Given the description of an element on the screen output the (x, y) to click on. 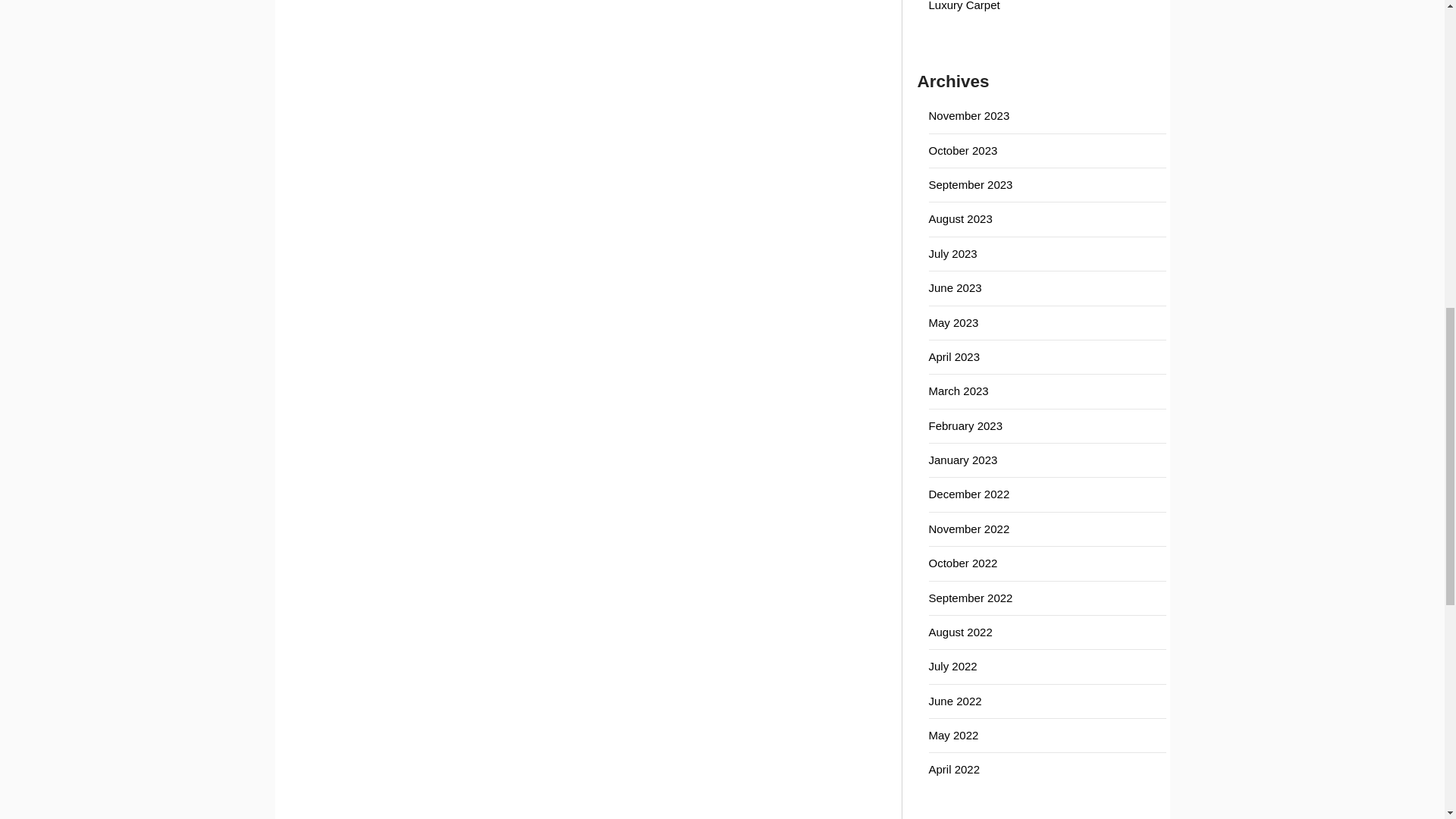
June 2022 (954, 700)
Luxury Carpet (963, 5)
September 2022 (969, 597)
July 2023 (952, 253)
October 2022 (962, 562)
November 2023 (968, 115)
January 2023 (962, 459)
November 2022 (968, 528)
May 2023 (953, 321)
May 2022 (953, 735)
March 2023 (958, 390)
July 2022 (952, 666)
June 2023 (954, 287)
February 2023 (965, 425)
August 2023 (959, 218)
